Given the description of an element on the screen output the (x, y) to click on. 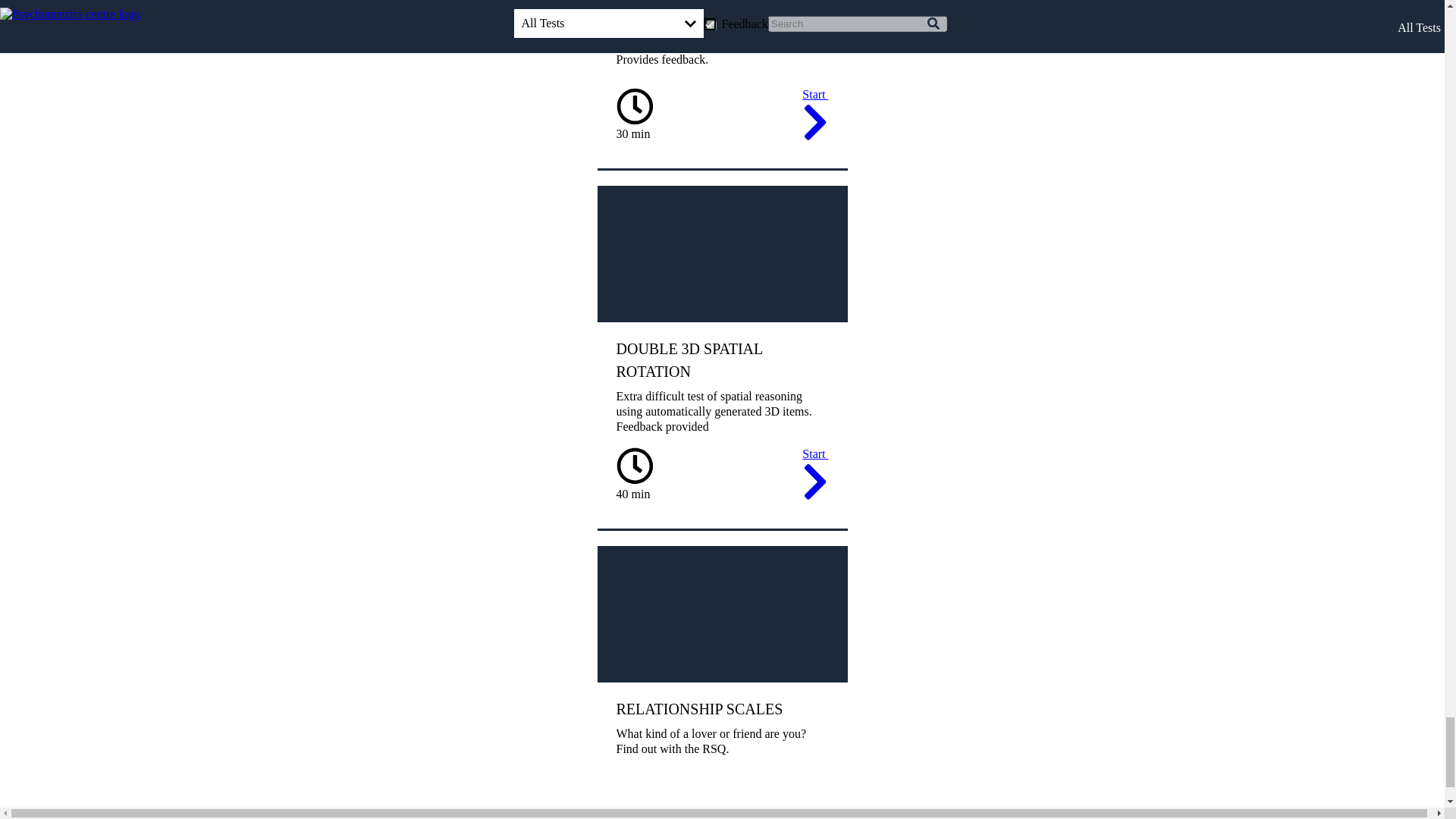
Start  (815, 116)
Start  (815, 813)
Start  (815, 476)
